Given the description of an element on the screen output the (x, y) to click on. 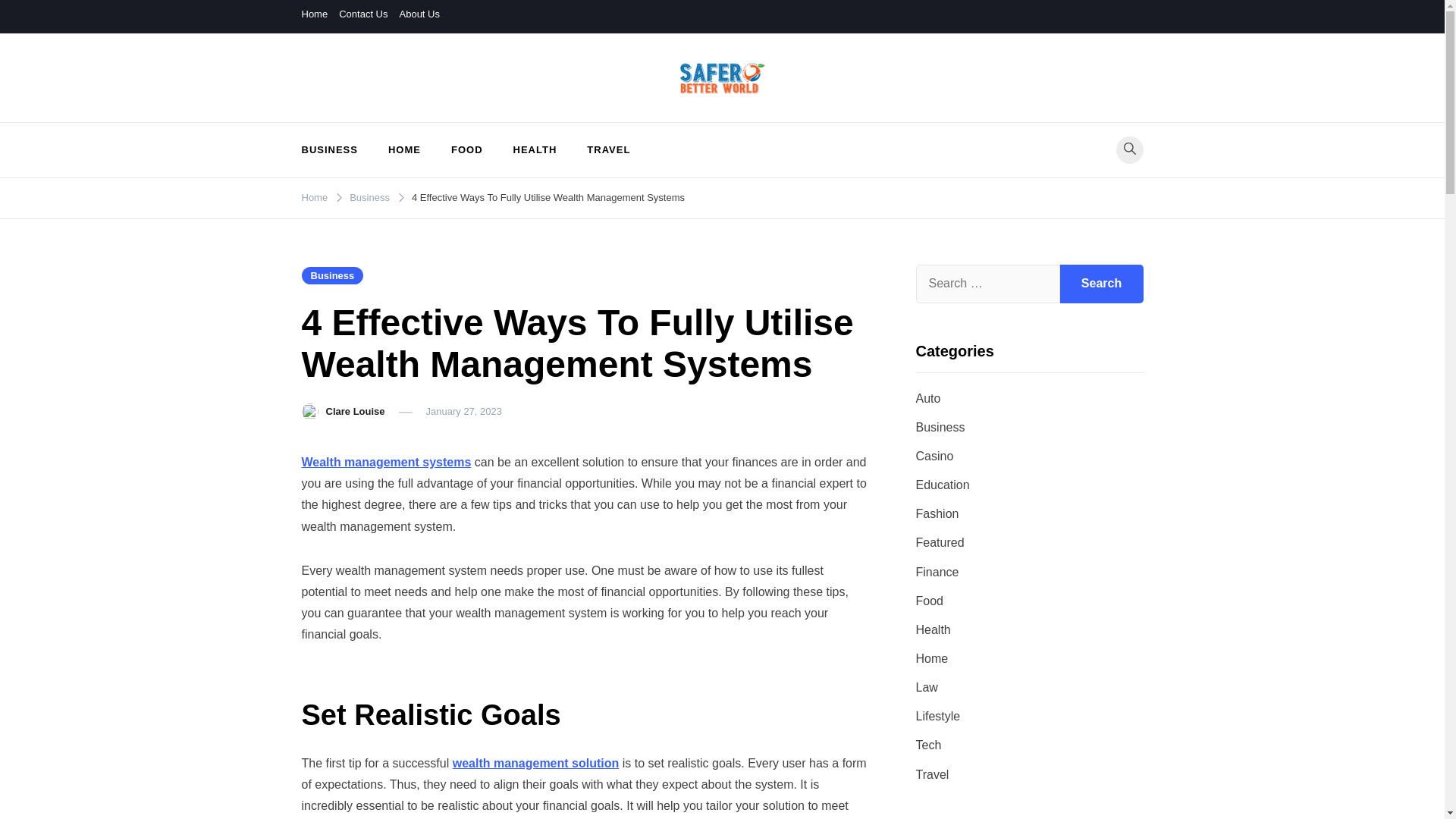
Home (315, 13)
TRAVEL (608, 150)
January 27, 2023 (464, 410)
wealth management solution (536, 762)
Business (332, 275)
Search (1100, 283)
Safer Better World (407, 113)
FOOD (466, 150)
Wealth management systems (386, 461)
HEALTH (534, 150)
Clare Louise (355, 410)
Business (369, 197)
BUSINESS (336, 150)
Home (315, 197)
HOME (403, 150)
